Given the description of an element on the screen output the (x, y) to click on. 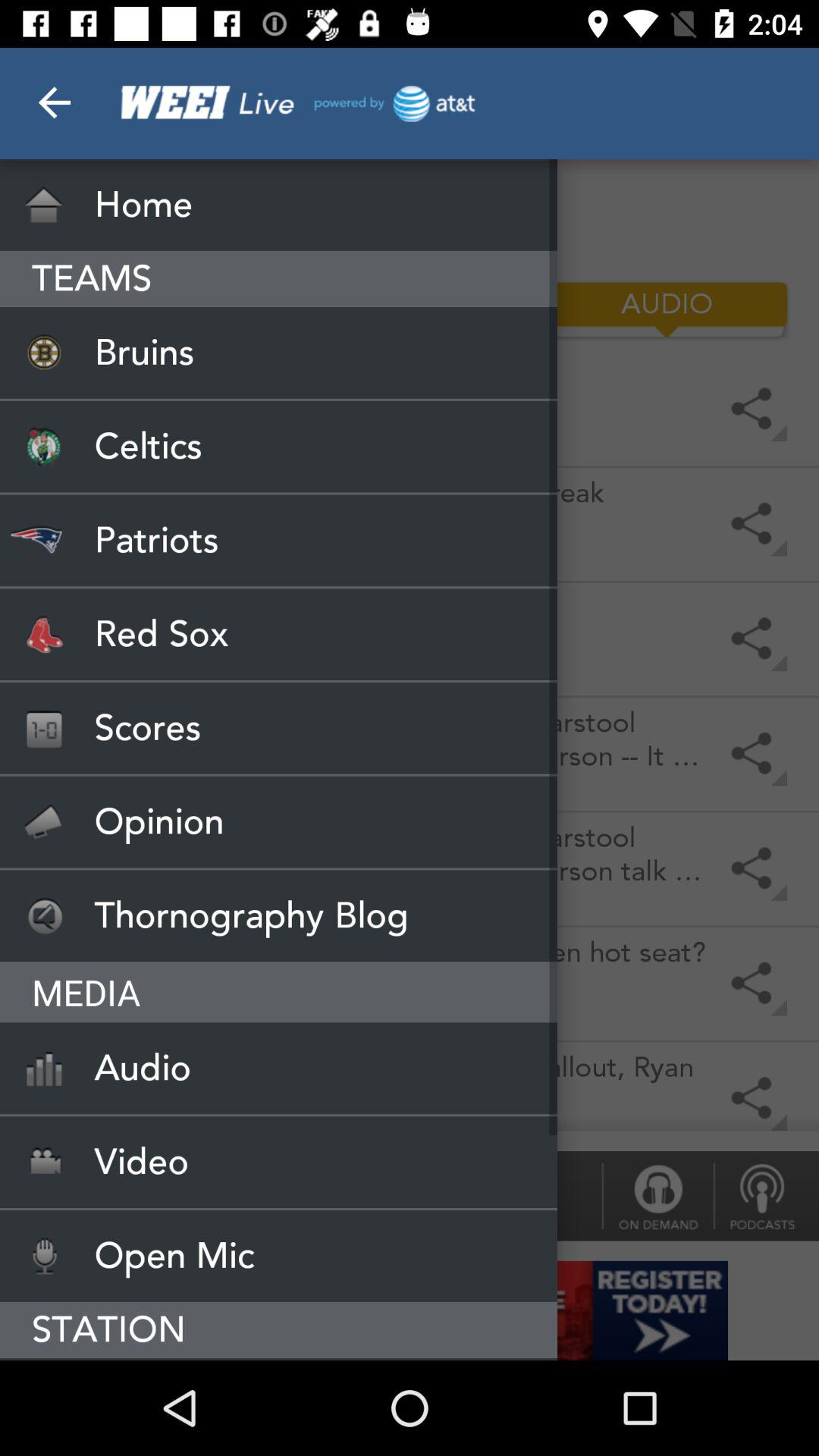
scroll until the home item (278, 204)
